Given the description of an element on the screen output the (x, y) to click on. 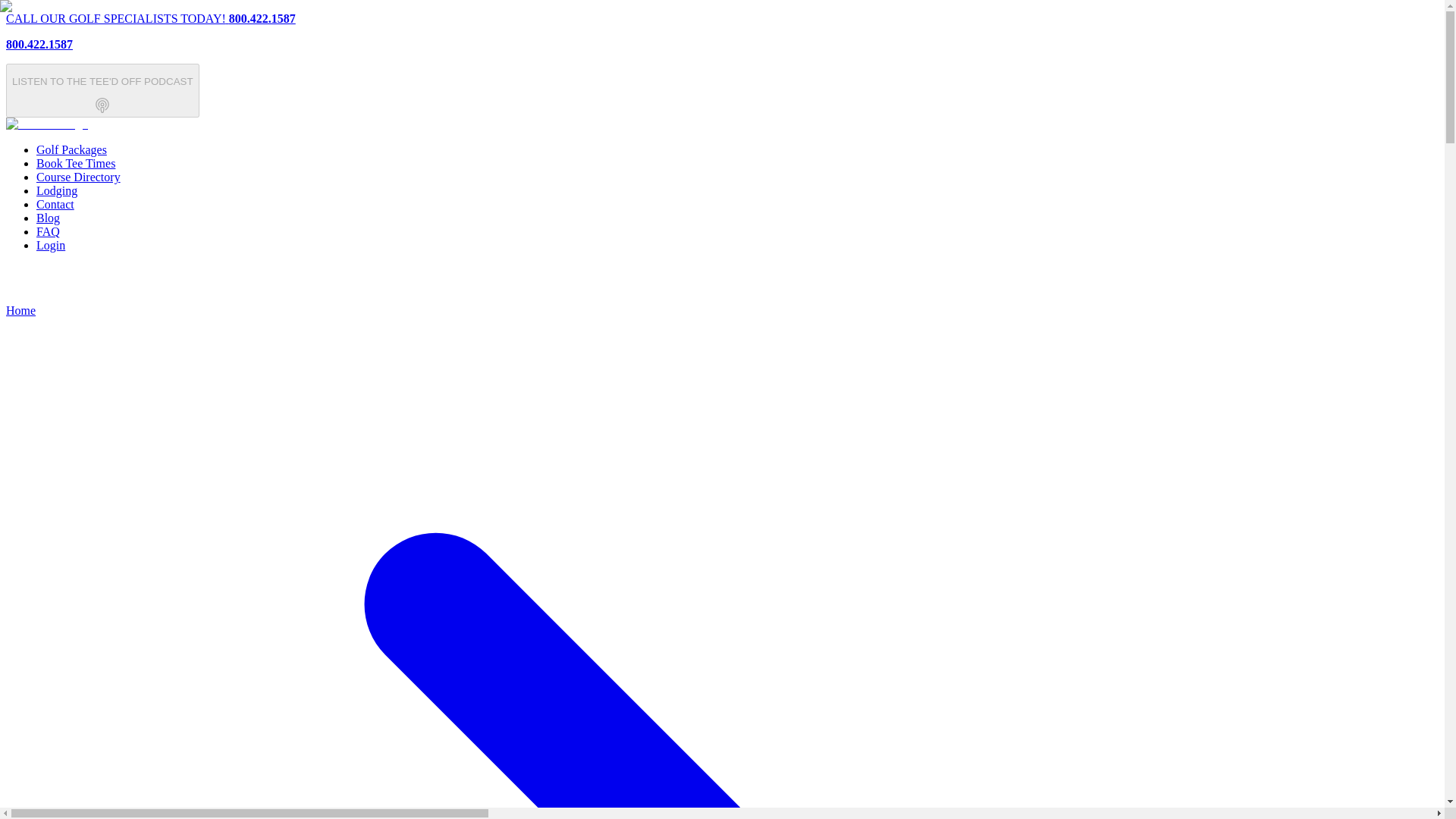
LISTEN TO THE TEE'D OFF PODCAST (102, 108)
LISTEN TO THE TEE'D OFF PODCAST (102, 90)
Blog (721, 31)
FAQ (47, 217)
Home (47, 231)
Golf Packages (19, 309)
Login (71, 149)
Myrtle Beach Golf Courses (50, 245)
